Given the description of an element on the screen output the (x, y) to click on. 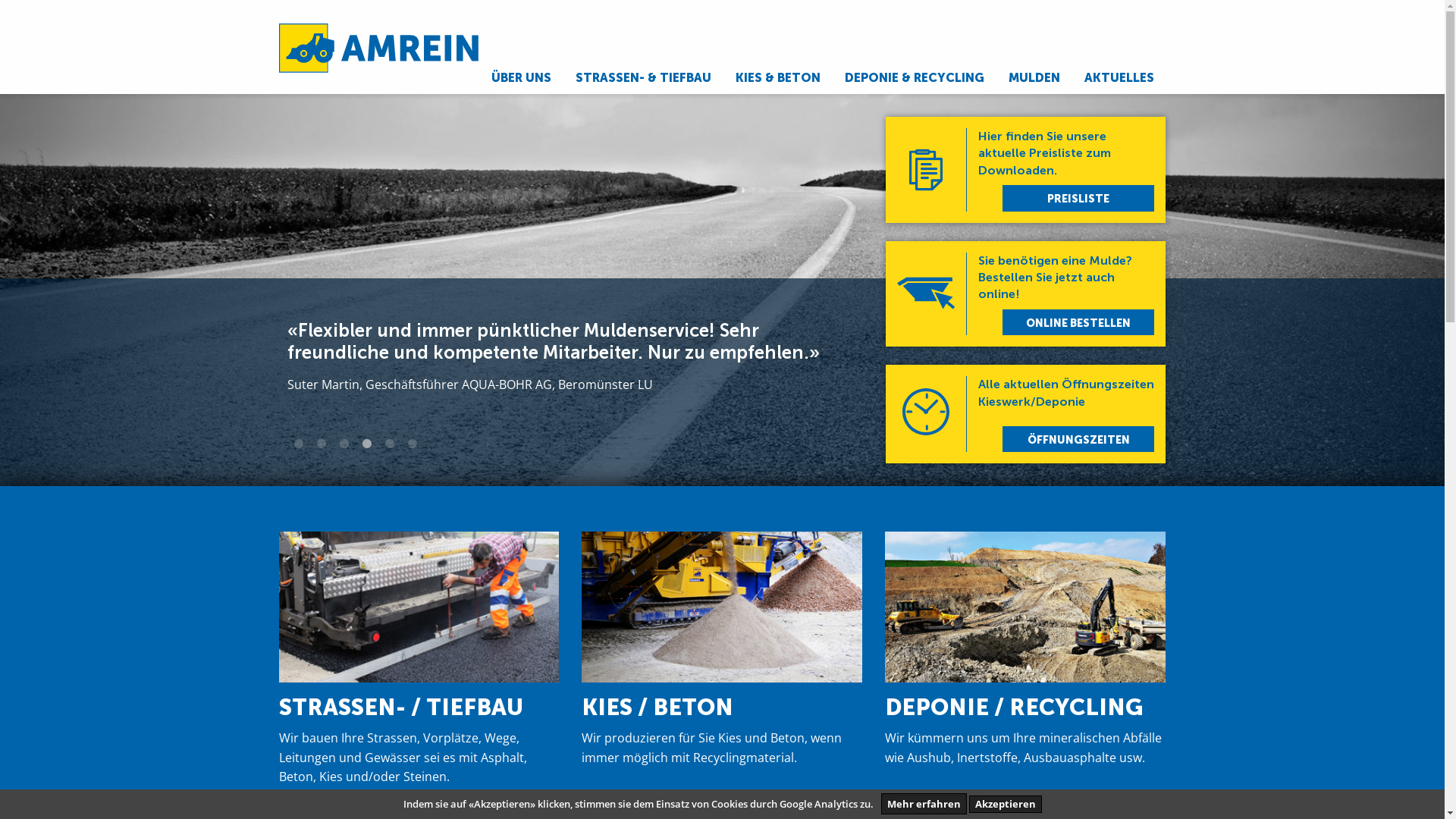
AKTUELLES Element type: text (1119, 78)
ONLINE BESTELLEN Element type: text (1078, 322)
Akzeptieren Element type: text (1005, 803)
2 Element type: text (321, 443)
MULDEN Element type: text (1034, 78)
DEPONIE & RECYCLING Element type: text (914, 78)
KIES & BETON Element type: text (777, 78)
3 Element type: text (343, 443)
Mehr erfahren Element type: text (923, 803)
STRASSEN- & TIEFBAU Element type: text (642, 78)
4 Element type: text (366, 443)
6 Element type: text (412, 443)
PREISLISTE Element type: text (1078, 197)
5 Element type: text (389, 443)
1 Element type: text (298, 443)
